Given the description of an element on the screen output the (x, y) to click on. 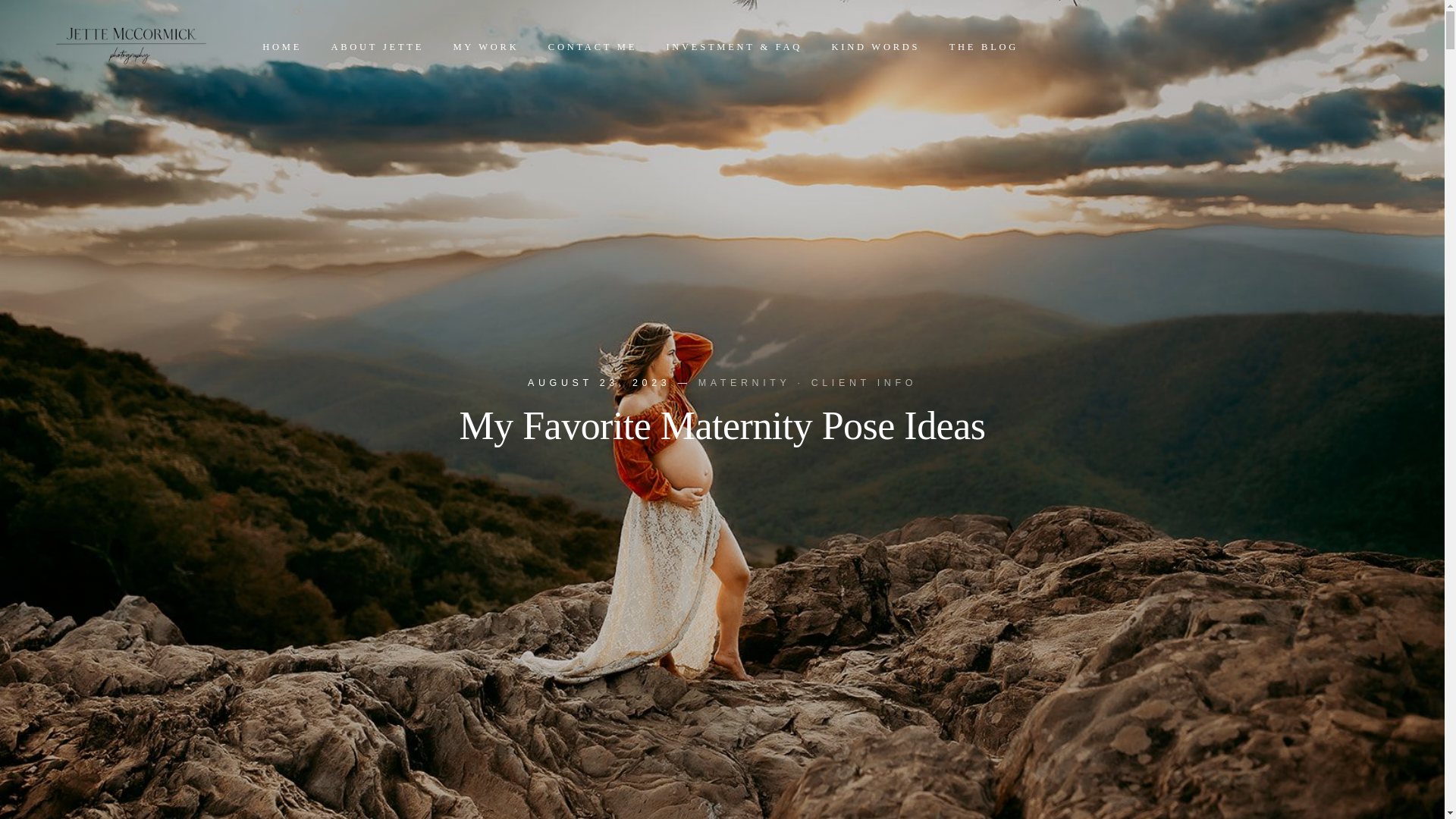
CLIENT INFO (863, 381)
ABOUT JETTE (376, 47)
KIND WORDS (875, 47)
THE BLOG (983, 47)
CONTACT ME (593, 47)
HOME (281, 47)
MY WORK (485, 47)
